Given the description of an element on the screen output the (x, y) to click on. 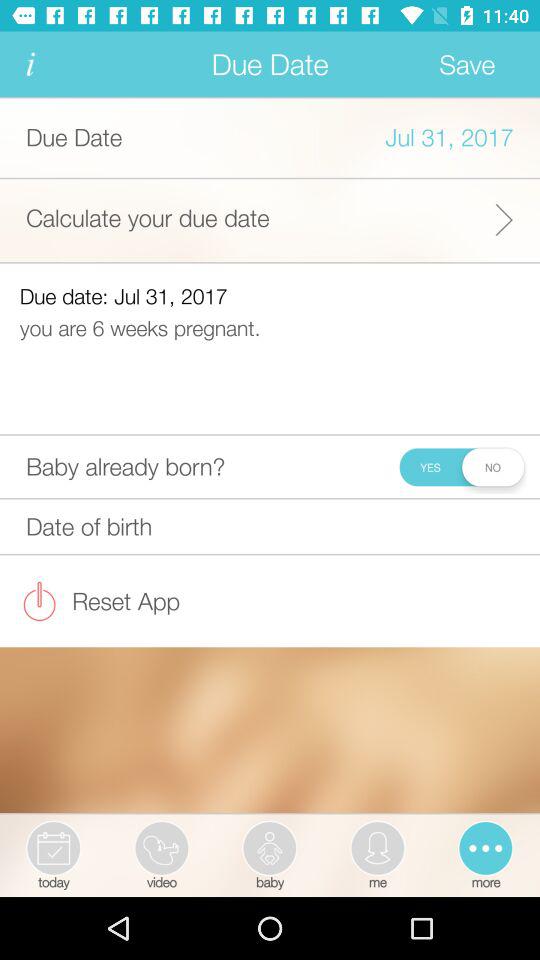
toggle for yes/no option (460, 466)
